Given the description of an element on the screen output the (x, y) to click on. 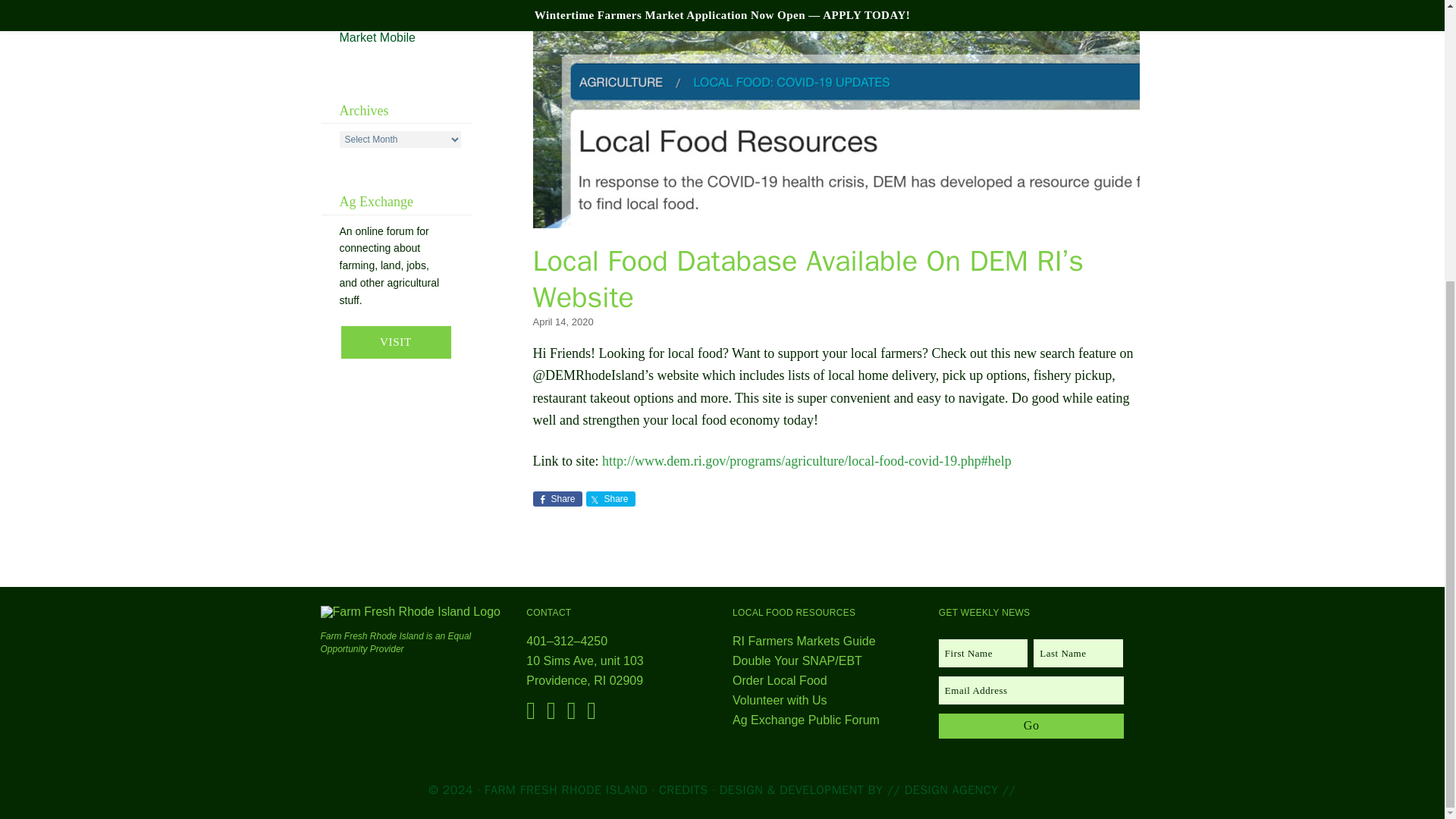
Local Food Fest (584, 670)
Share (382, 7)
Share (609, 498)
Go (556, 498)
Market Mobile (1031, 725)
VISIT (376, 36)
